Given the description of an element on the screen output the (x, y) to click on. 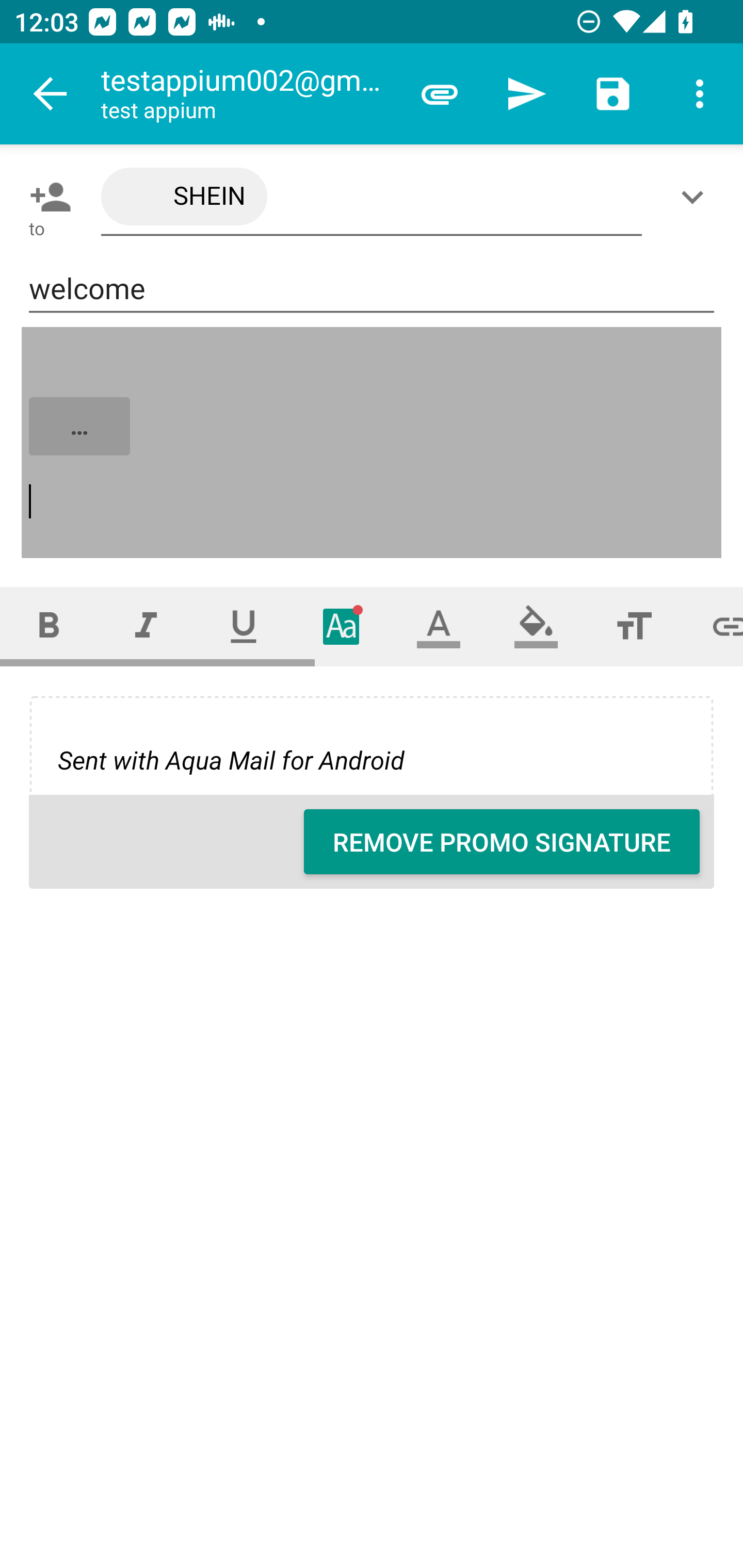
Navigate up (50, 93)
testappium002@gmail.com test appium (248, 93)
Attach (439, 93)
Send (525, 93)
Save (612, 93)
More options (699, 93)
SHEIN <info@news.us.shein.com>,  (371, 197)
Pick contact: To (46, 196)
Show/Add CC/BCC (696, 196)
welcome (371, 288)

…
 (372, 442)
Bold (48, 626)
Italic (145, 626)
Underline (243, 626)
Typeface (font) (341, 626)
Text color (438, 626)
Fill color (536, 626)
Font size (633, 626)
Set link (712, 626)
REMOVE PROMO SIGNATURE (501, 841)
